Given the description of an element on the screen output the (x, y) to click on. 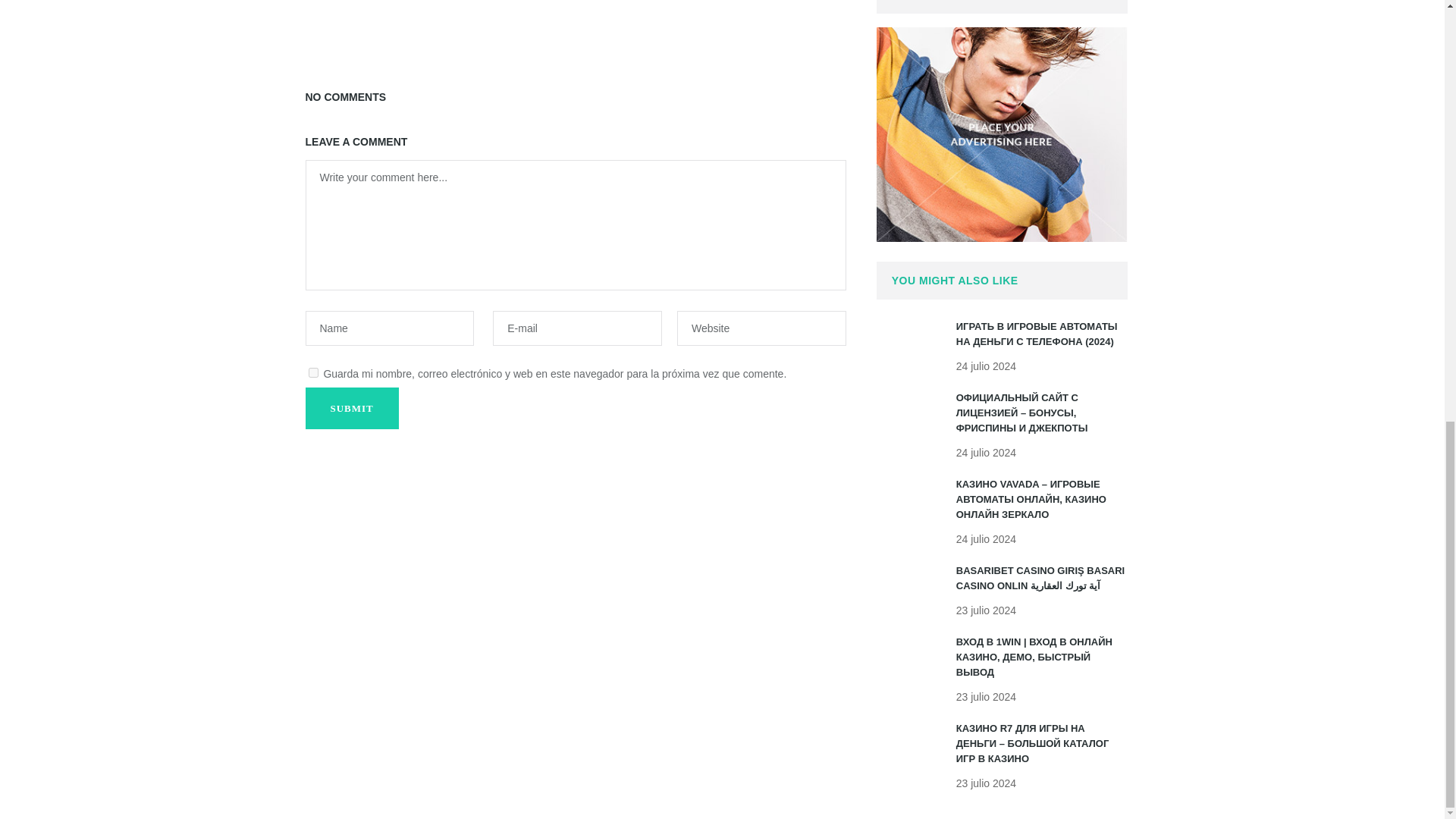
yes (312, 372)
Submit (350, 408)
Submit (350, 408)
